Given the description of an element on the screen output the (x, y) to click on. 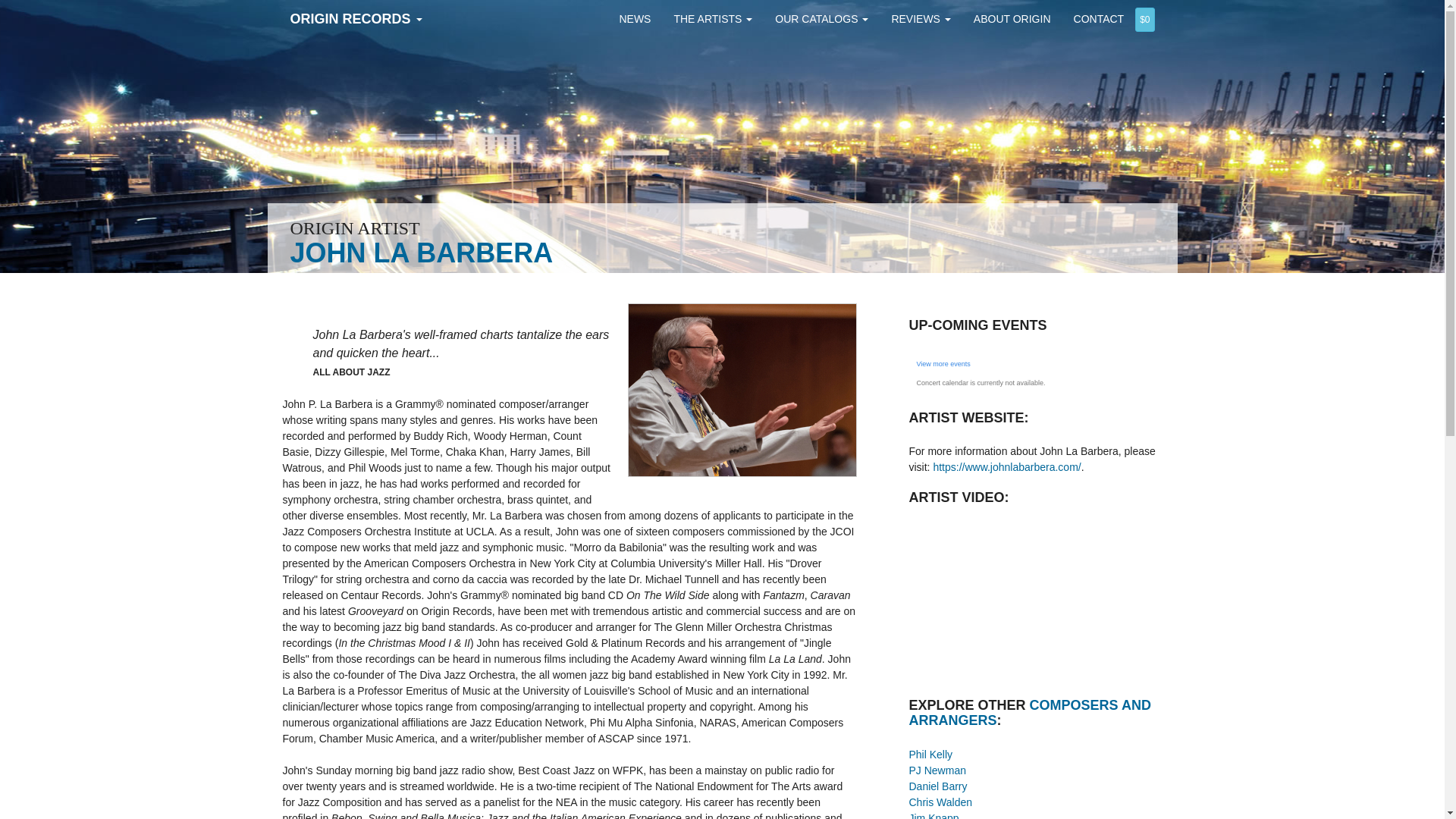
OUR CATALOGS (820, 18)
COMPOSERS AND ARRANGERS (1029, 712)
Daniel Barry (937, 786)
REVIEWS (919, 18)
ORIGIN RECORDS (356, 18)
View more events (942, 363)
PJ Newman (936, 770)
THE ARTISTS (712, 18)
NEWS (634, 18)
ABOUT ORIGIN (1012, 18)
CONTACT (1098, 18)
Phil Kelly (930, 754)
Jim Knapp (933, 815)
Chris Walden (940, 802)
